Given the description of an element on the screen output the (x, y) to click on. 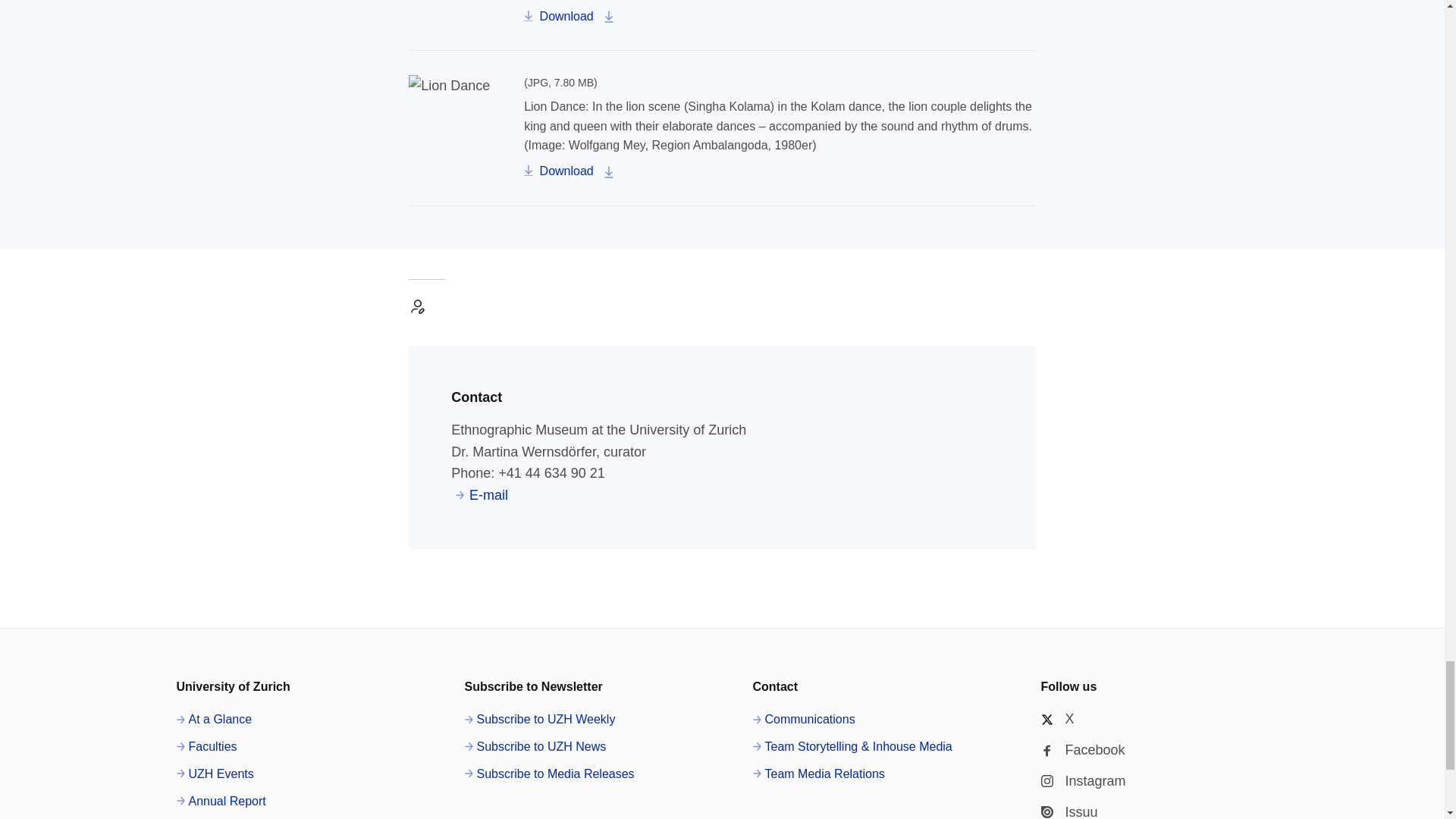
Team Media Relations (817, 773)
Subscribe to UZH Weekly (539, 719)
Subscribe to UZH News (534, 746)
Communications (803, 719)
Annual Report (220, 801)
Faculties (205, 746)
Subscribe to Media Releases (548, 773)
UZH Events (214, 773)
At a Glance (213, 719)
